Given the description of an element on the screen output the (x, y) to click on. 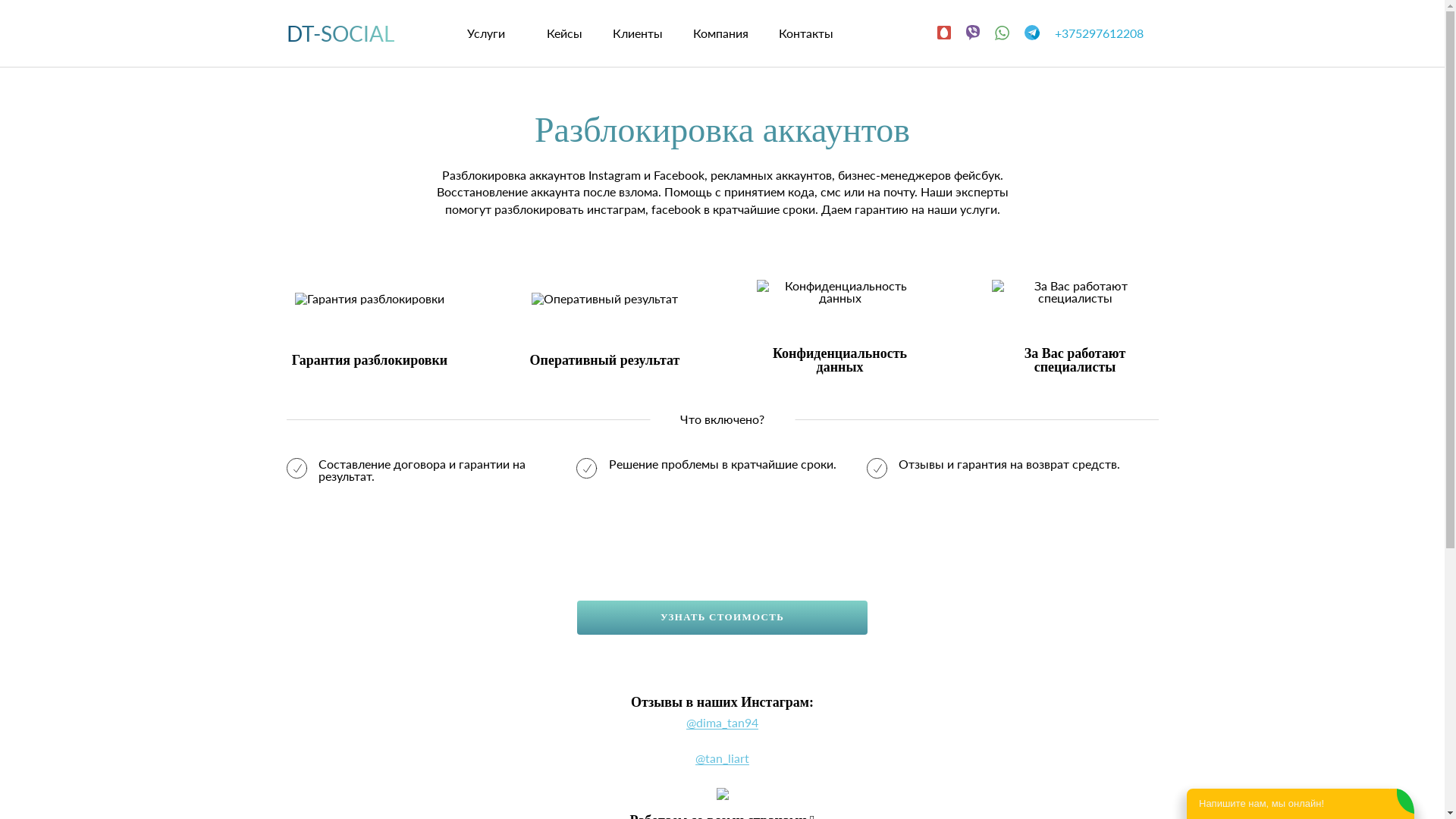
@dima_tan94 Element type: text (722, 722)
+375297612208 Element type: text (1105, 32)
DT-SOCIAL Element type: text (340, 32)
@tan_liart Element type: text (722, 758)
